Given the description of an element on the screen output the (x, y) to click on. 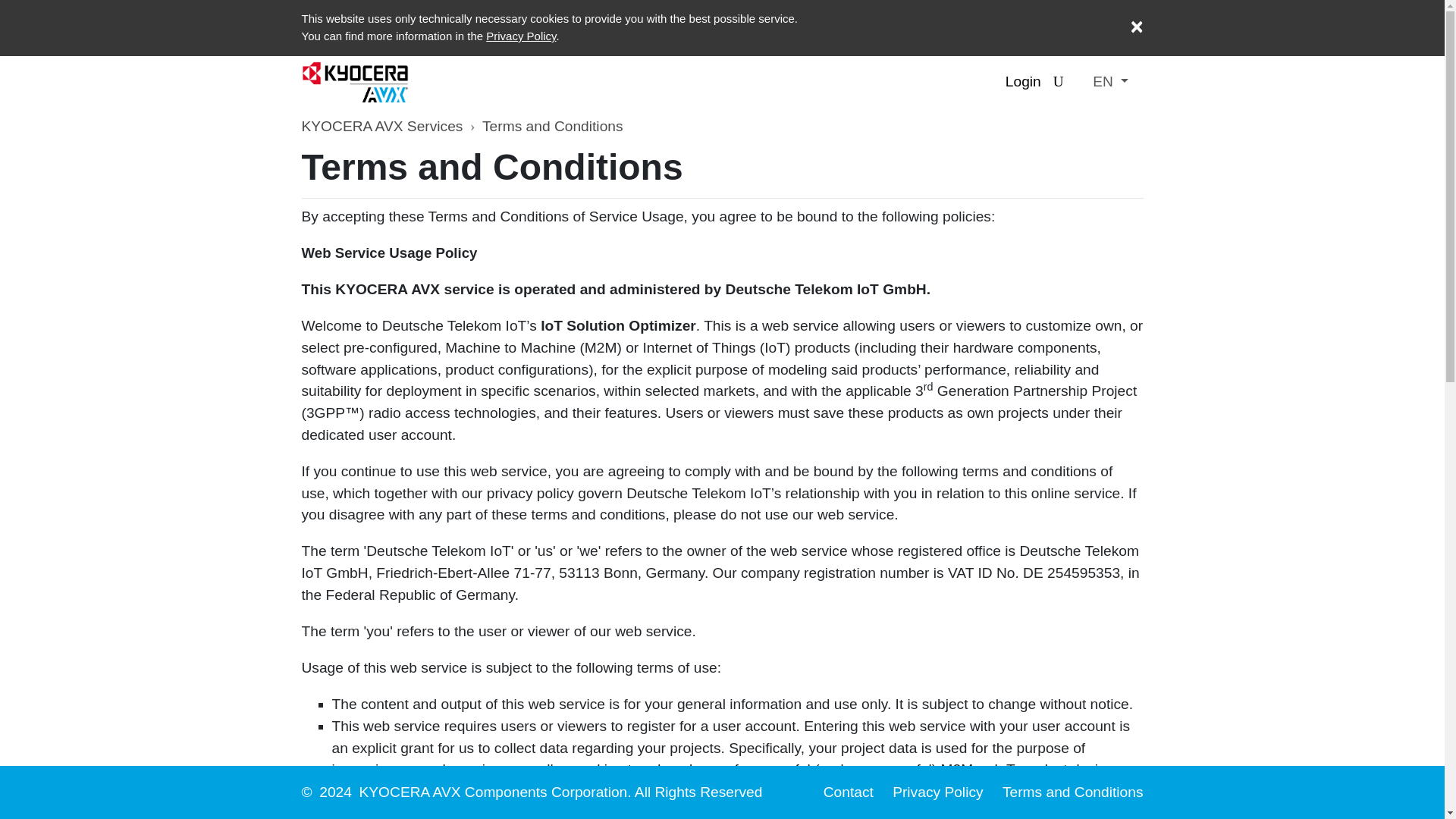
Login U (1033, 82)
Contact (850, 791)
Terms and Conditions (1072, 791)
Privacy Policy (521, 35)
Privacy Policy (939, 791)
KYOCERA AVX Services (382, 125)
EN (1110, 82)
